Given the description of an element on the screen output the (x, y) to click on. 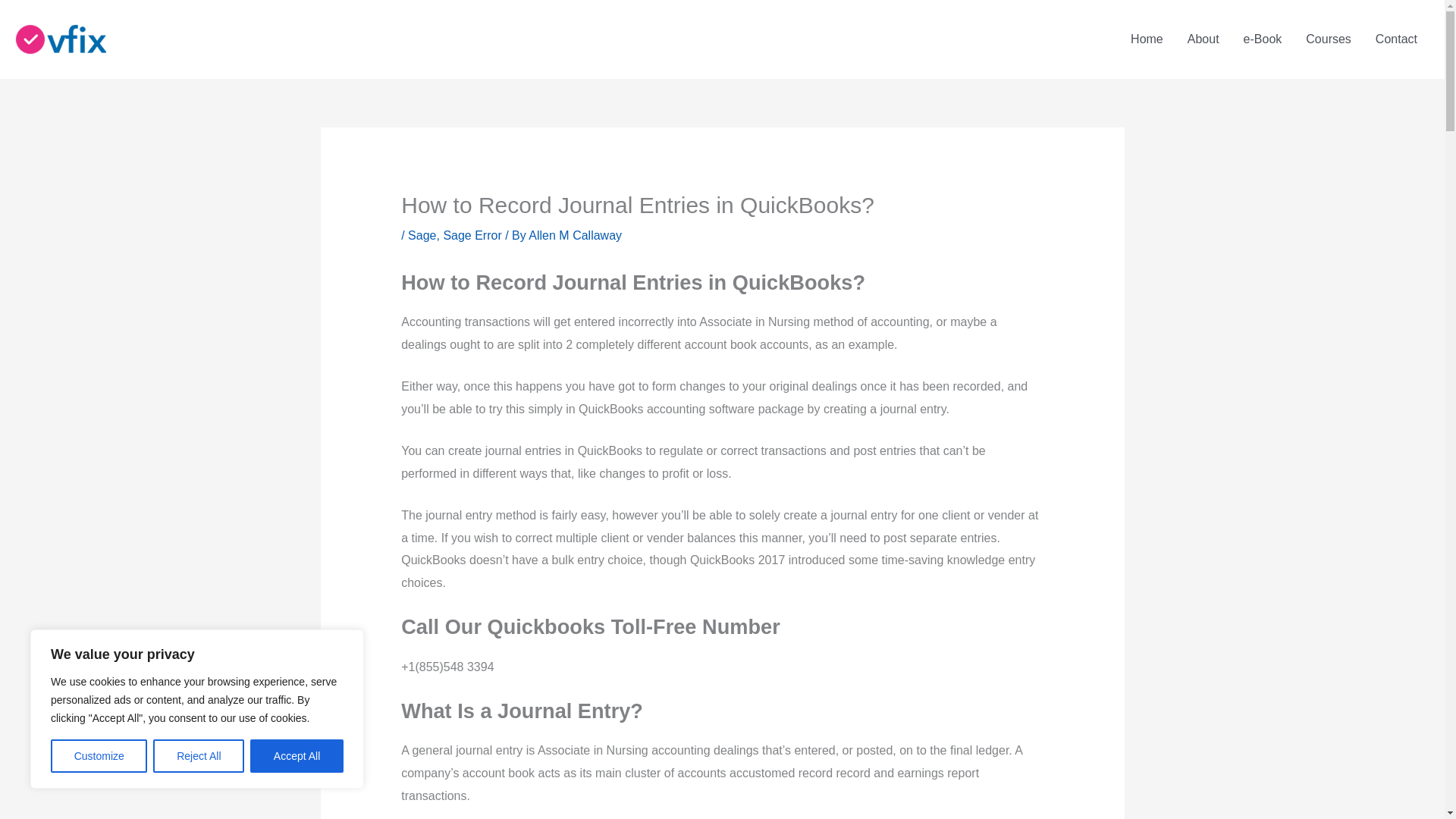
Customize (98, 756)
Accept All (296, 756)
e-Book (1262, 39)
Allen M Callaway (574, 235)
View all posts by Allen M Callaway (574, 235)
Sage Error (471, 235)
Sage (421, 235)
Contact (1395, 39)
Reject All (198, 756)
Courses (1328, 39)
Home (1146, 39)
About (1202, 39)
